Given the description of an element on the screen output the (x, y) to click on. 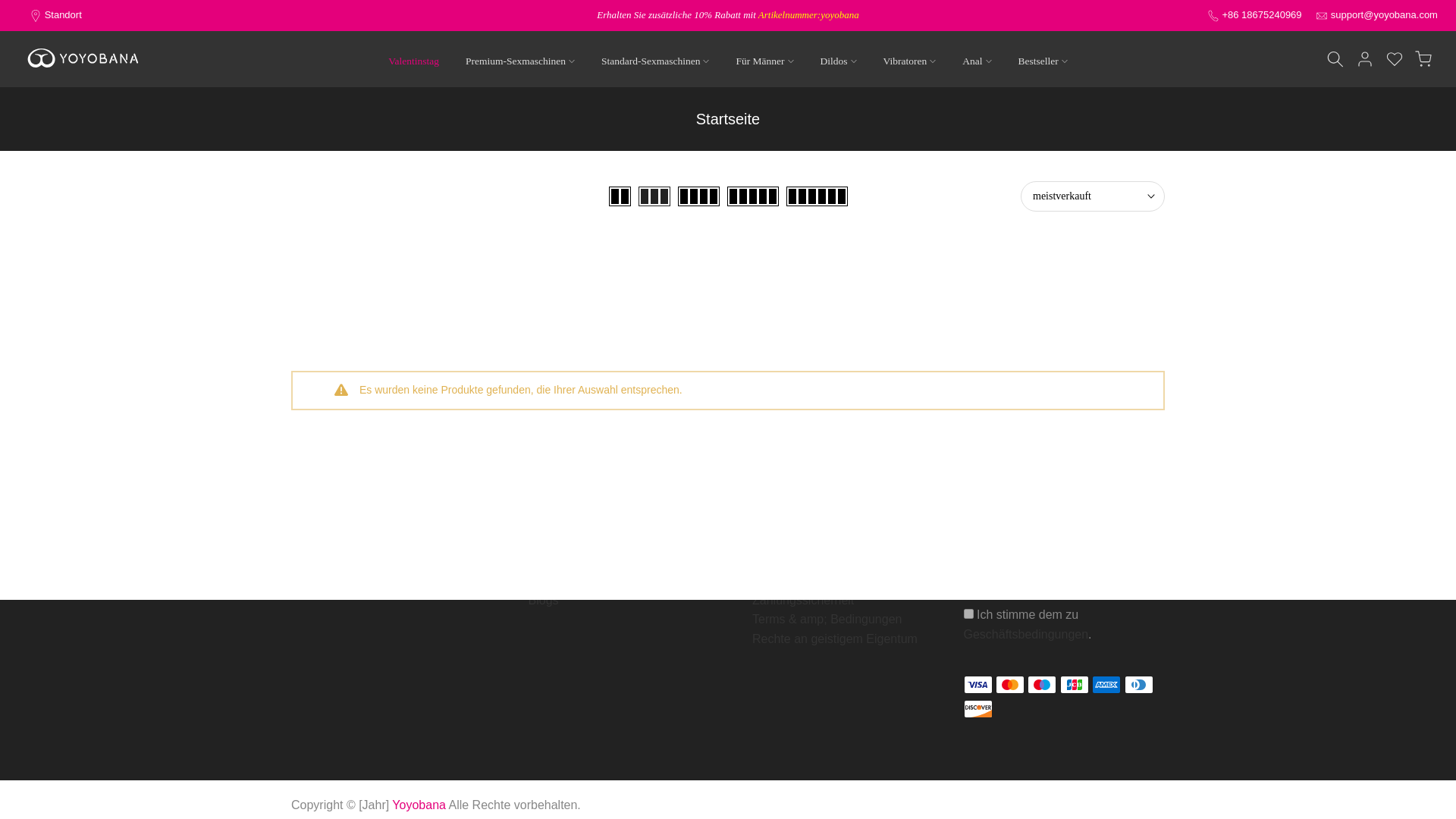
Valentinstag (413, 61)
Standort (63, 14)
Dildos (837, 61)
Anal (976, 61)
Zum Inhalt springen (10, 7)
Standard-Sexmaschinen (655, 61)
Vibratoren (909, 61)
meistverkauft (1092, 195)
Bestseller (1042, 61)
Premium-Sexmaschinen (519, 61)
